Given the description of an element on the screen output the (x, y) to click on. 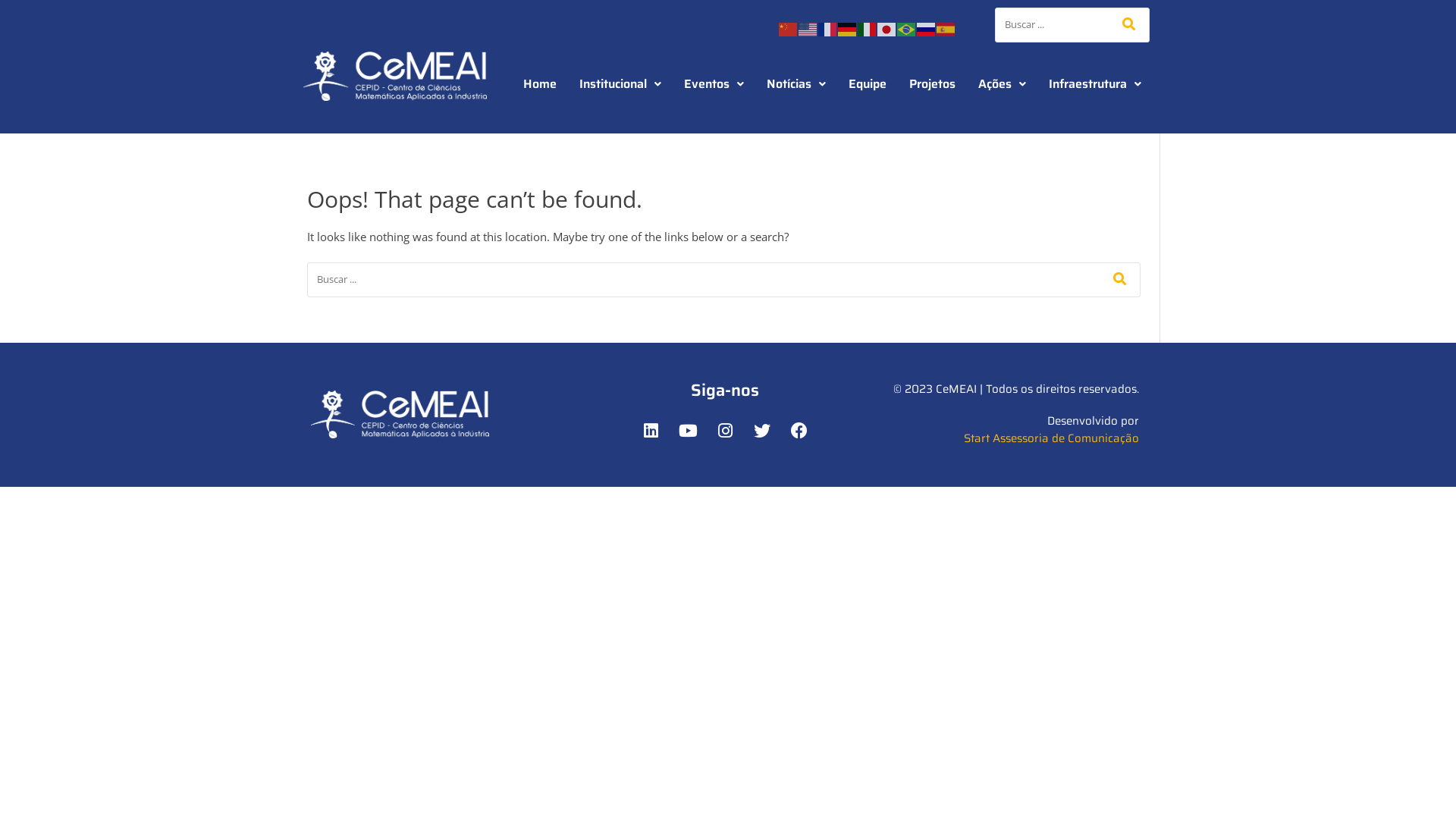
Institucional Element type: text (619, 83)
Projetos Element type: text (931, 83)
Infraestrutura Element type: text (1094, 83)
English Element type: hover (808, 27)
Equipe Element type: text (867, 83)
Home Element type: text (539, 83)
Italiano Element type: hover (867, 27)
Eventos Element type: text (713, 83)
Deutsch Element type: hover (847, 27)
